Given the description of an element on the screen output the (x, y) to click on. 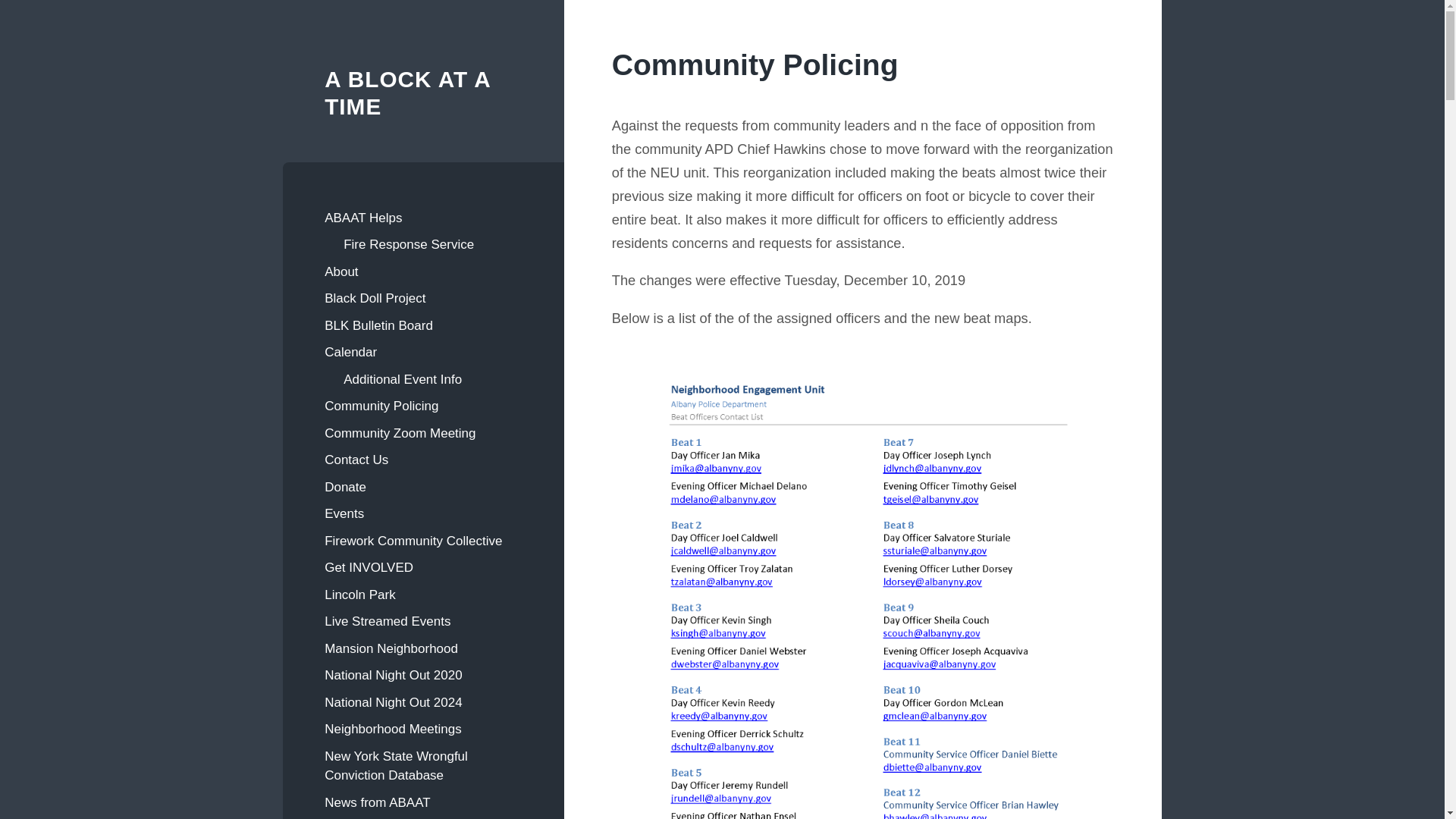
National Night Out 2020 (422, 675)
About (422, 271)
Get INVOLVED (422, 567)
Live Streamed Events (422, 621)
ABAAT Helps (422, 217)
Events (422, 513)
Community Policing (422, 406)
Contact Us (422, 460)
Black Doll Project (422, 298)
New York State Wrongful Conviction Database (422, 765)
Additional Event Info (432, 379)
Community Zoom Meeting (422, 433)
Calendar (422, 352)
A BLOCK AT A TIME (407, 92)
Neighborhood Meetings (422, 728)
